Given the description of an element on the screen output the (x, y) to click on. 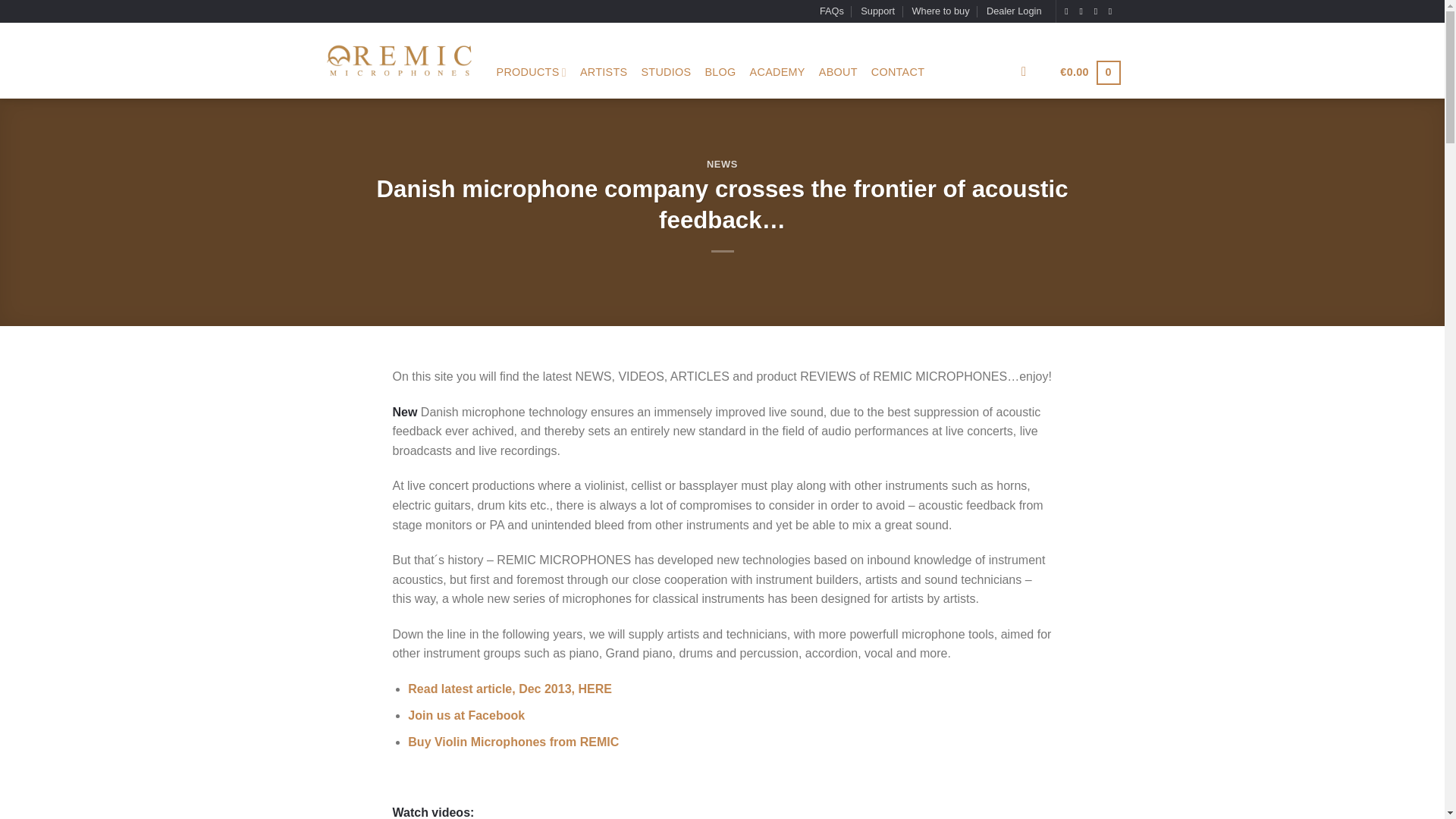
Cart (1089, 72)
ARTISTS (603, 72)
Follow on Facebook (1069, 10)
FAQs (831, 11)
Support (877, 11)
PRODUCTS (531, 72)
Read latest article, Dec 2013, HERE (509, 688)
STUDIOS (665, 72)
Follow on Twitter (1098, 10)
ABOUT (837, 72)
Follow on Instagram (1082, 10)
Join us at Facebook (465, 715)
Follow on YouTube (1113, 10)
CONTACT (897, 72)
Dealer Login (1014, 11)
